Given the description of an element on the screen output the (x, y) to click on. 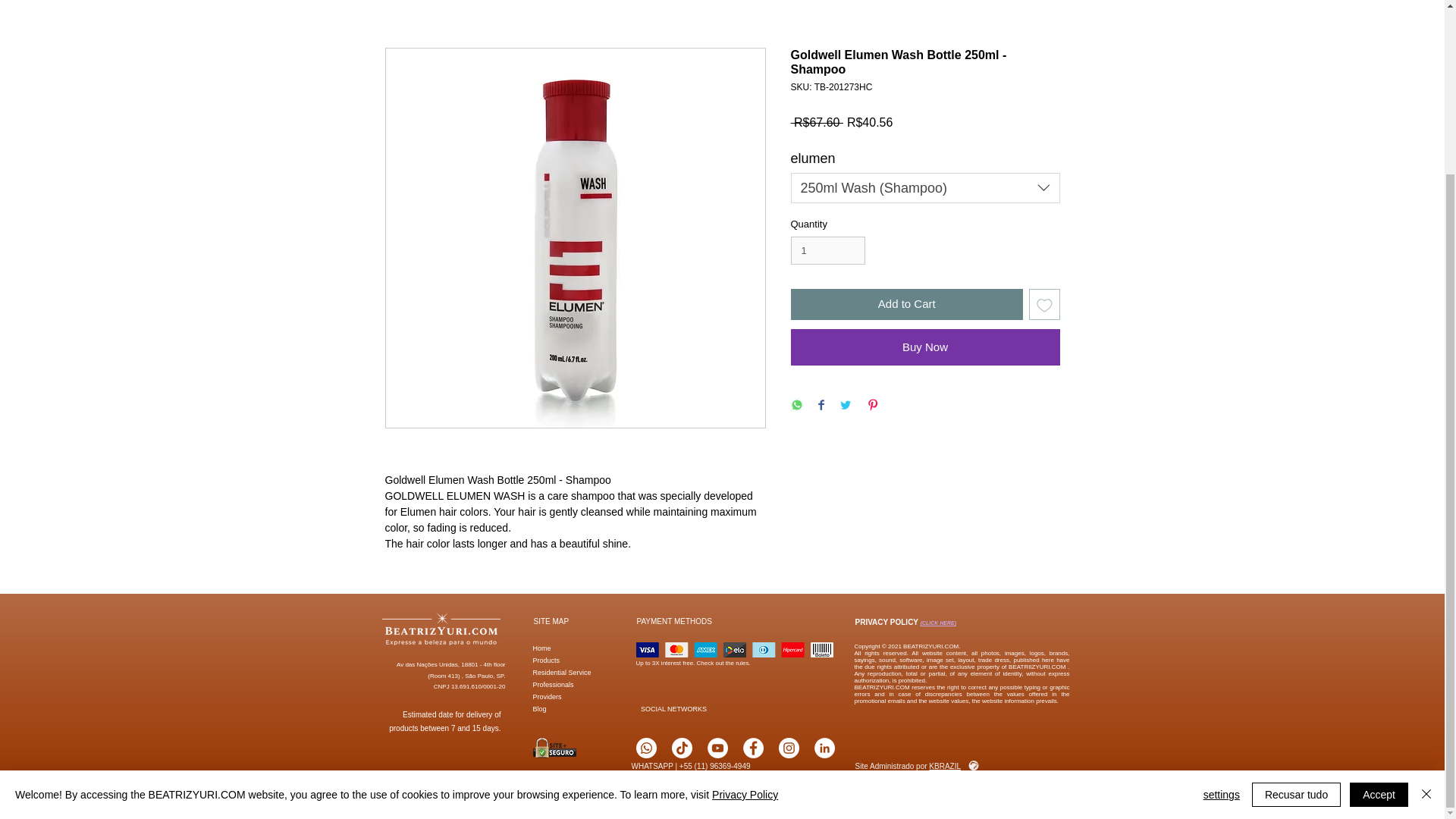
Professionals (552, 681)
Add to Cart (906, 304)
Providers (546, 692)
BEATRIZYURI.COM site seguro.png (553, 747)
1 (827, 250)
Products (545, 656)
Home (541, 644)
Residential Service (561, 669)
Buy Now (924, 347)
